Given the description of an element on the screen output the (x, y) to click on. 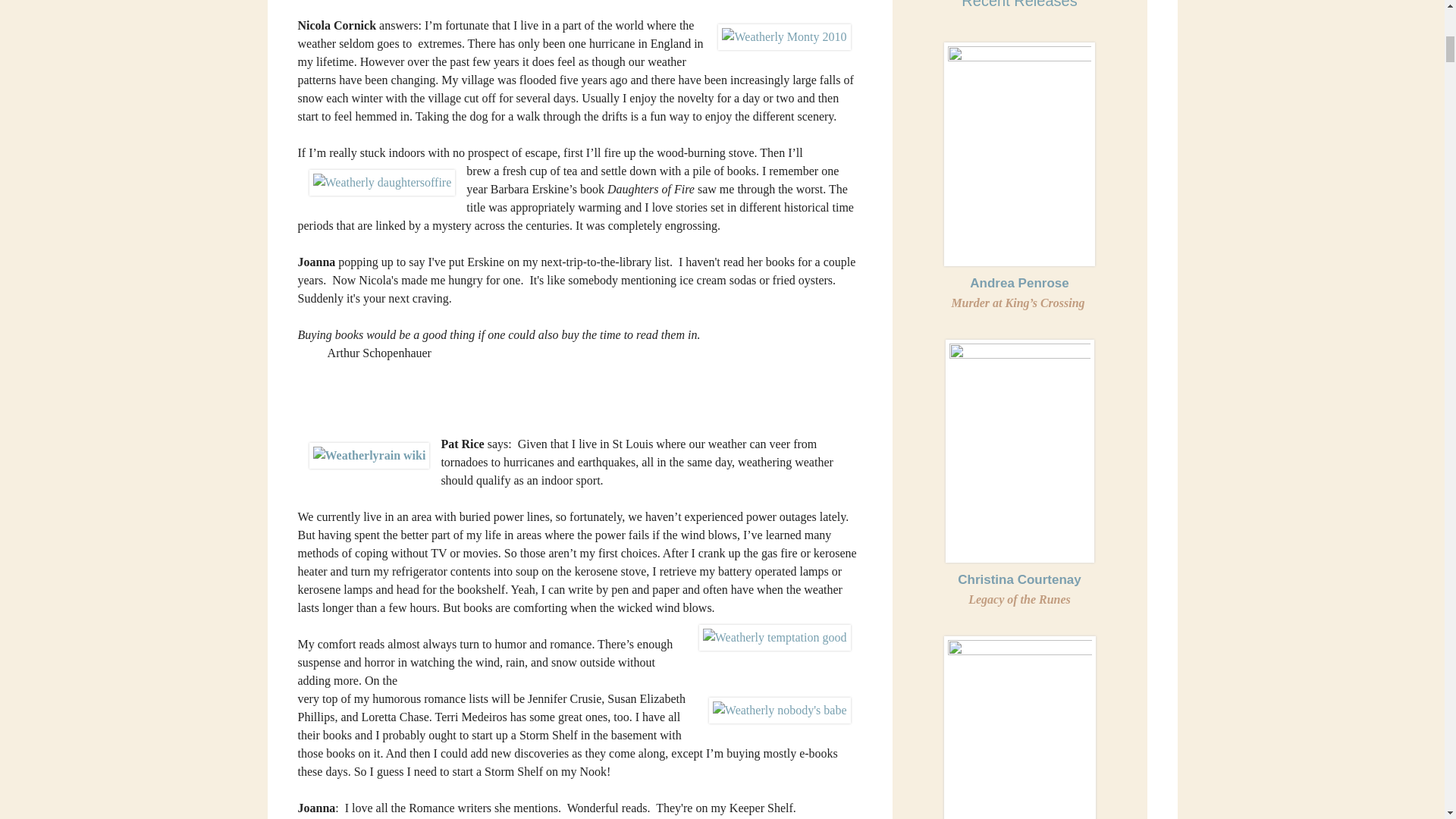
Weatherly nobody's babe (779, 710)
Weatherlyrain wiki (368, 455)
Weatherly temptation good (774, 637)
Weatherly daughtersoffire (381, 182)
Weatherly Monty 2010 (783, 36)
